Given the description of an element on the screen output the (x, y) to click on. 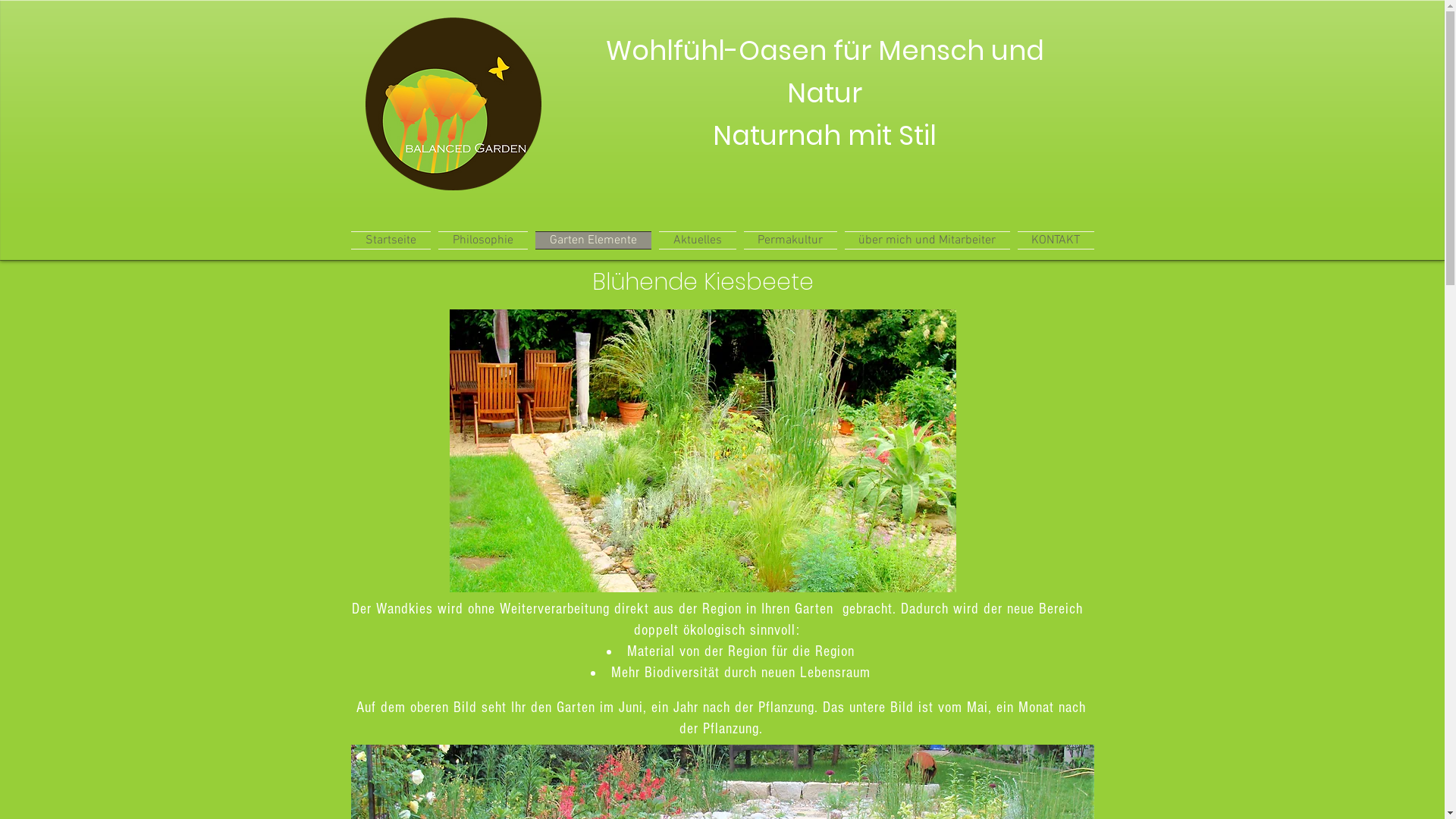
Permakultur Element type: text (790, 233)
Philosophie Element type: text (481, 233)
Garten Elemente Element type: text (592, 233)
Aktuelles Element type: text (697, 233)
Startseite Element type: text (391, 233)
KONTAKT Element type: text (1053, 233)
